Given the description of an element on the screen output the (x, y) to click on. 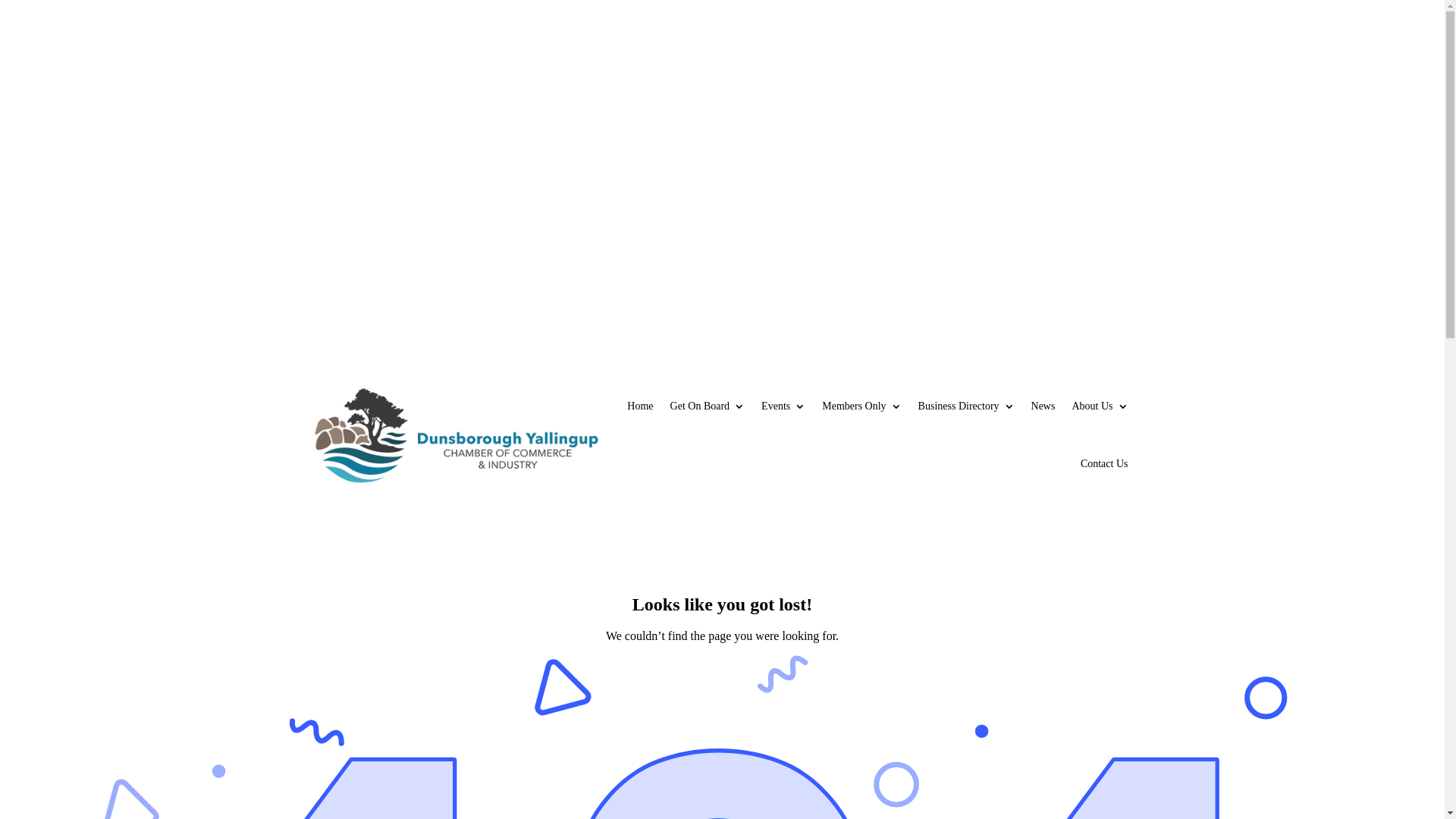
News Element type: text (1043, 406)
Follow on Instagram Element type: hover (354, 151)
Members Only Element type: text (861, 406)
Call us: 0438 301 135 Element type: text (365, 202)
Business Directory Element type: text (966, 406)
Signup Element type: text (1113, 106)
About Us Element type: text (1099, 406)
Follow on Facebook Element type: hover (324, 151)
Log In Element type: text (1058, 106)
Get On Board Element type: text (707, 406)
admin@dycci.com.au Element type: text (641, 106)
Events Element type: text (783, 406)
Call us: 0438 301 135 Element type: text (513, 106)
Home Element type: text (639, 406)
Contact Us Element type: text (1104, 463)
